Given the description of an element on the screen output the (x, y) to click on. 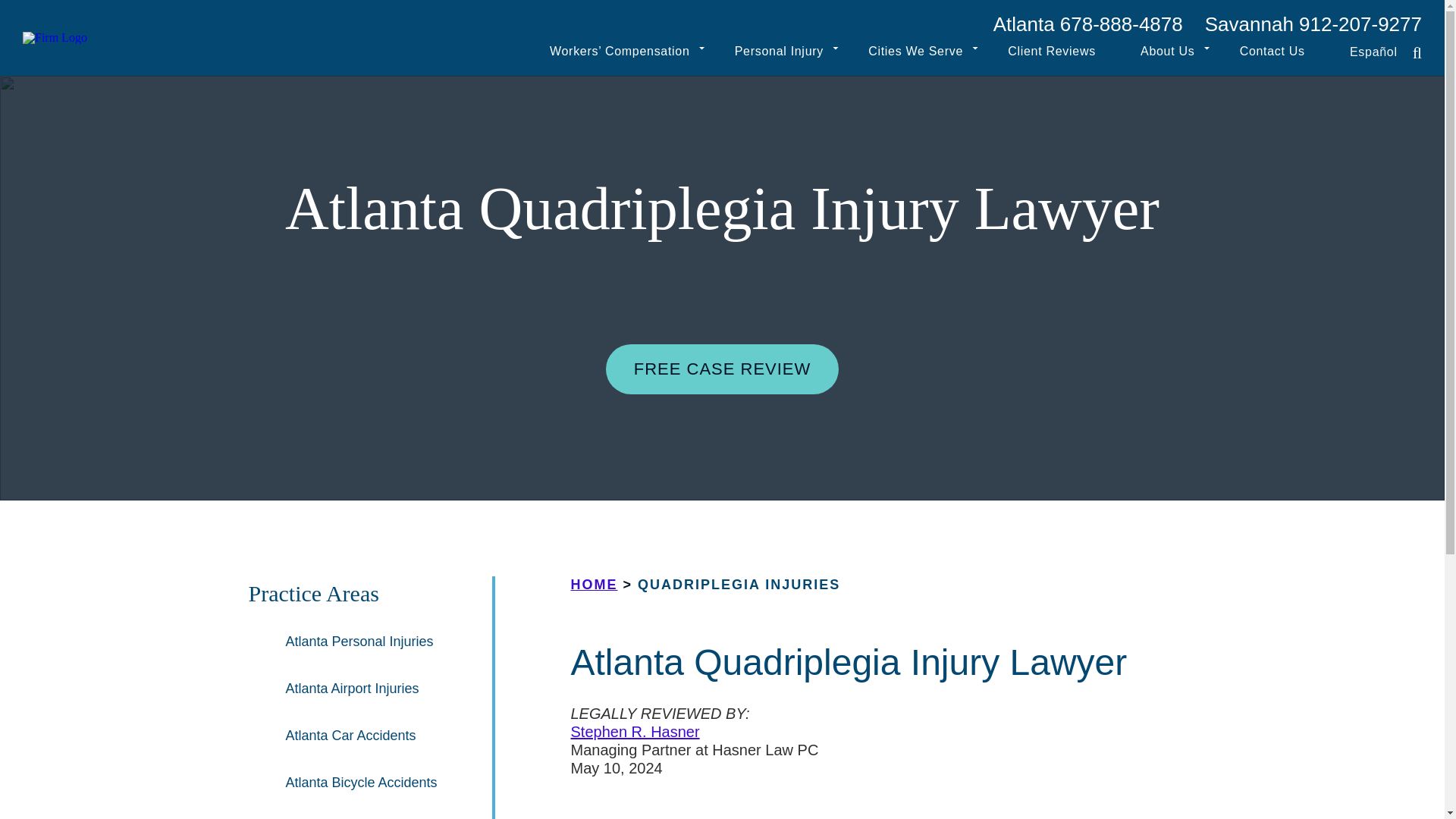
Personal Injury (779, 53)
About Us (1166, 53)
Savannah 912-207-9277 (1313, 24)
Client Reviews (1051, 53)
Cities We Serve (914, 53)
Atlanta 678-888-4878 (1087, 24)
